Given the description of an element on the screen output the (x, y) to click on. 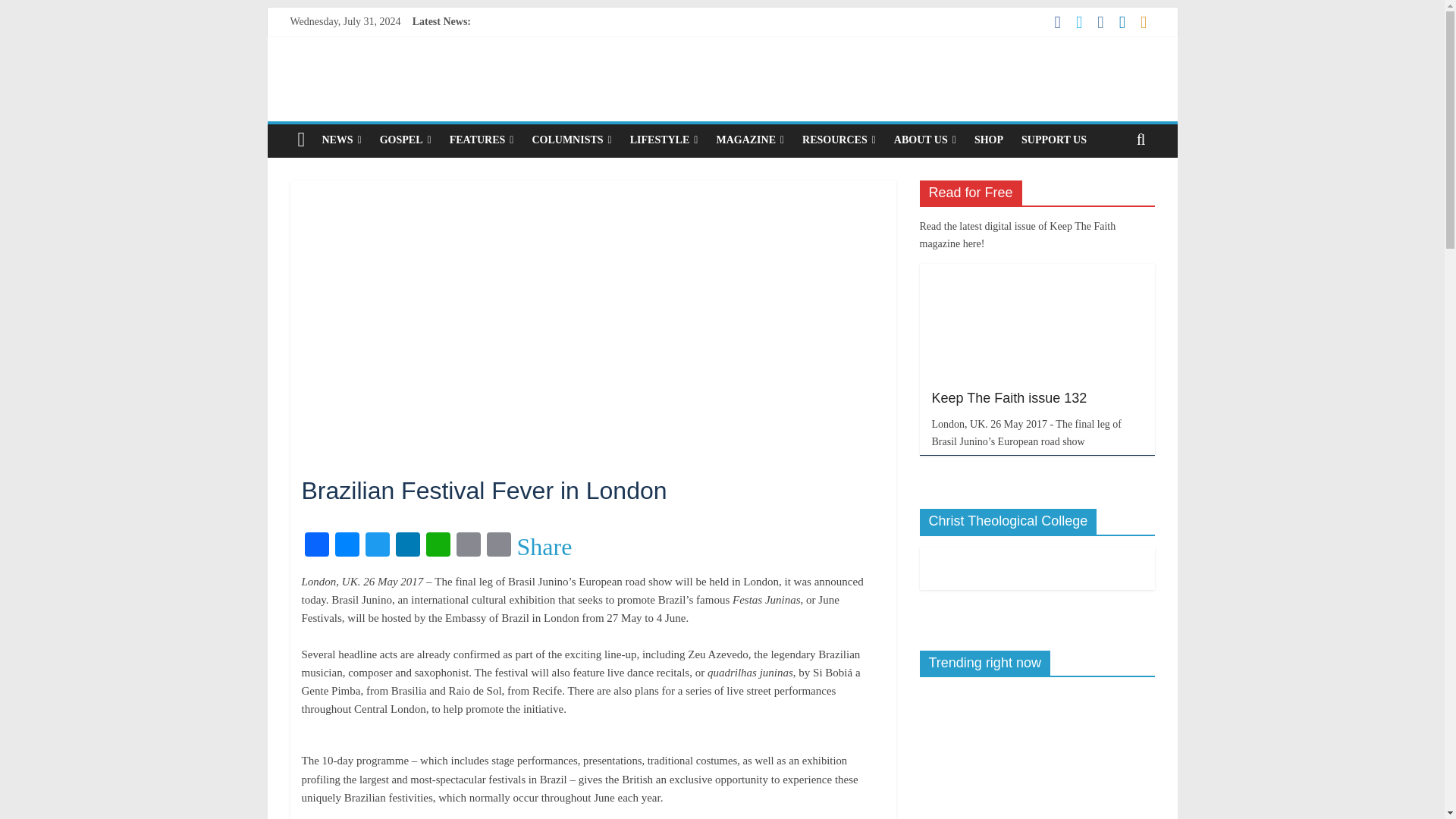
NEWS (341, 140)
FEATURES (481, 140)
LinkedIn (408, 546)
Facebook (316, 546)
Messenger (346, 546)
COLUMNISTS (571, 140)
LIFESTYLE (664, 140)
Twitter (377, 546)
GOSPEL (406, 140)
